Given the description of an element on the screen output the (x, y) to click on. 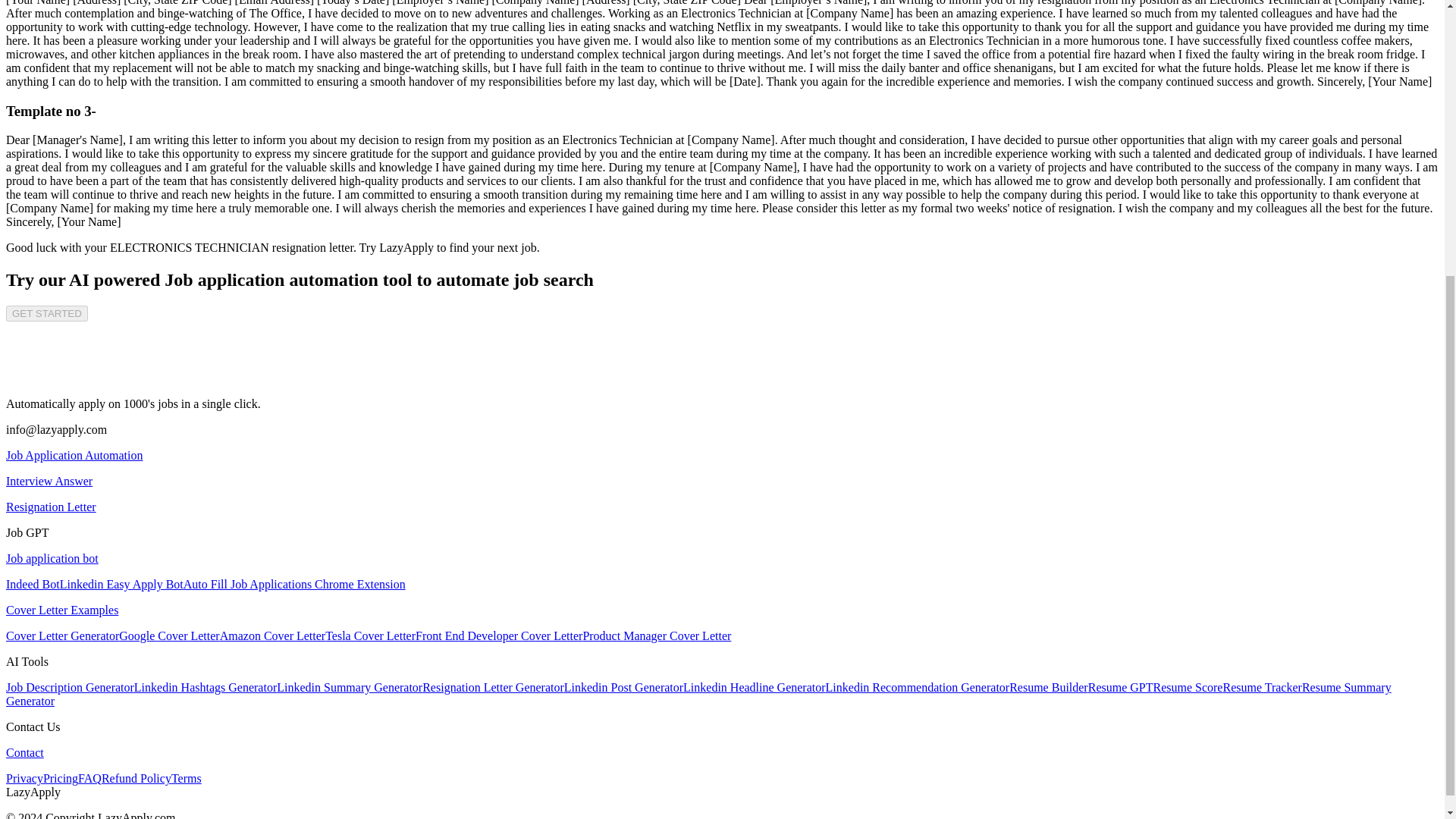
Indeed Bot (32, 584)
Linkedin Headline Generator (753, 686)
Resume Score (1188, 686)
Resume Builder (1048, 686)
Resume GPT (1120, 686)
Google Cover Letter (169, 635)
GET STARTED (46, 313)
Job application bot (52, 558)
Amazon Cover Letter (272, 635)
Pricing (60, 778)
